Given the description of an element on the screen output the (x, y) to click on. 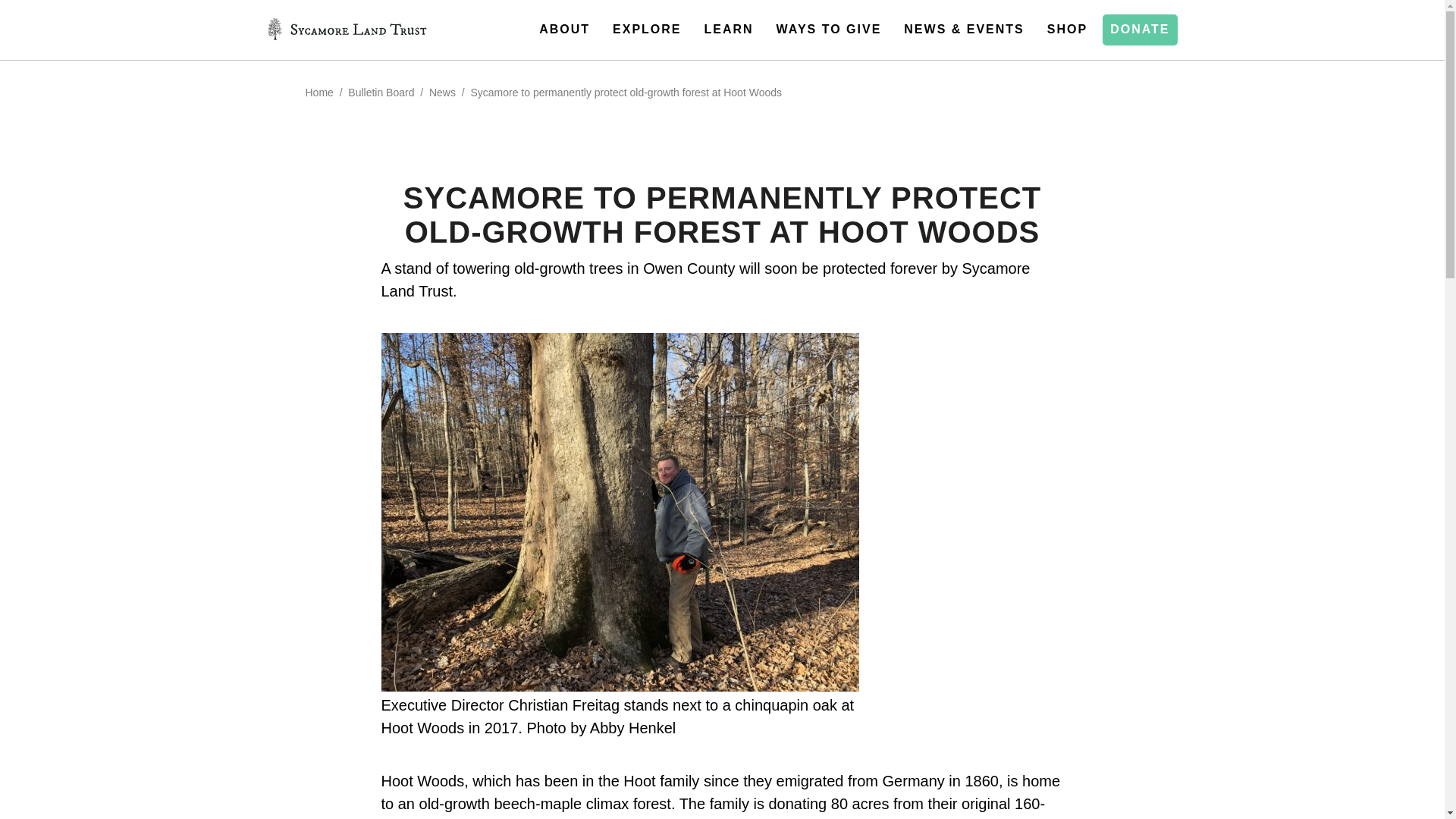
ABOUT (568, 29)
WAYS TO GIVE (832, 29)
EXPLORE (650, 29)
LEARN (731, 29)
